Given the description of an element on the screen output the (x, y) to click on. 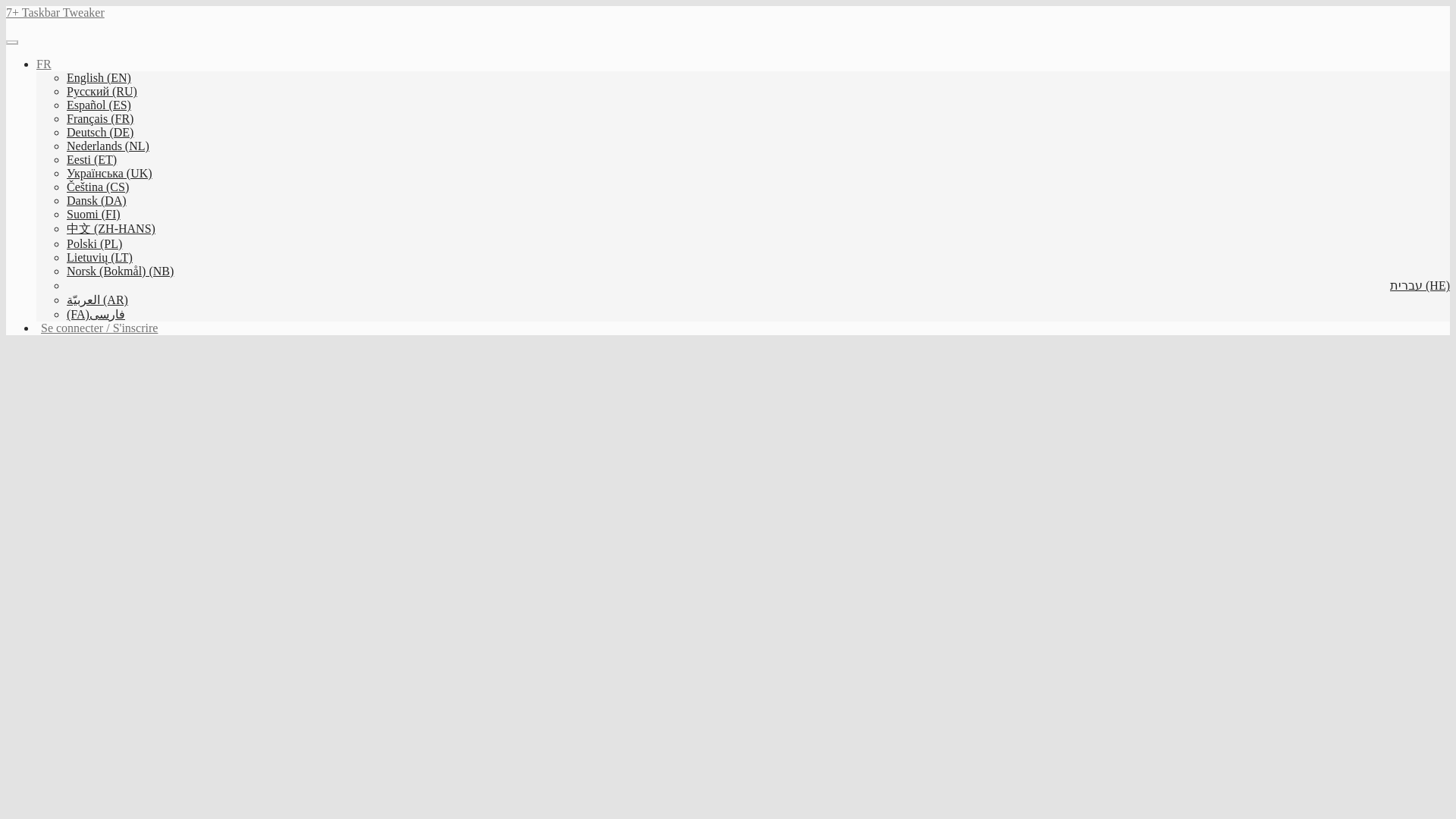
FR (43, 63)
